Given the description of an element on the screen output the (x, y) to click on. 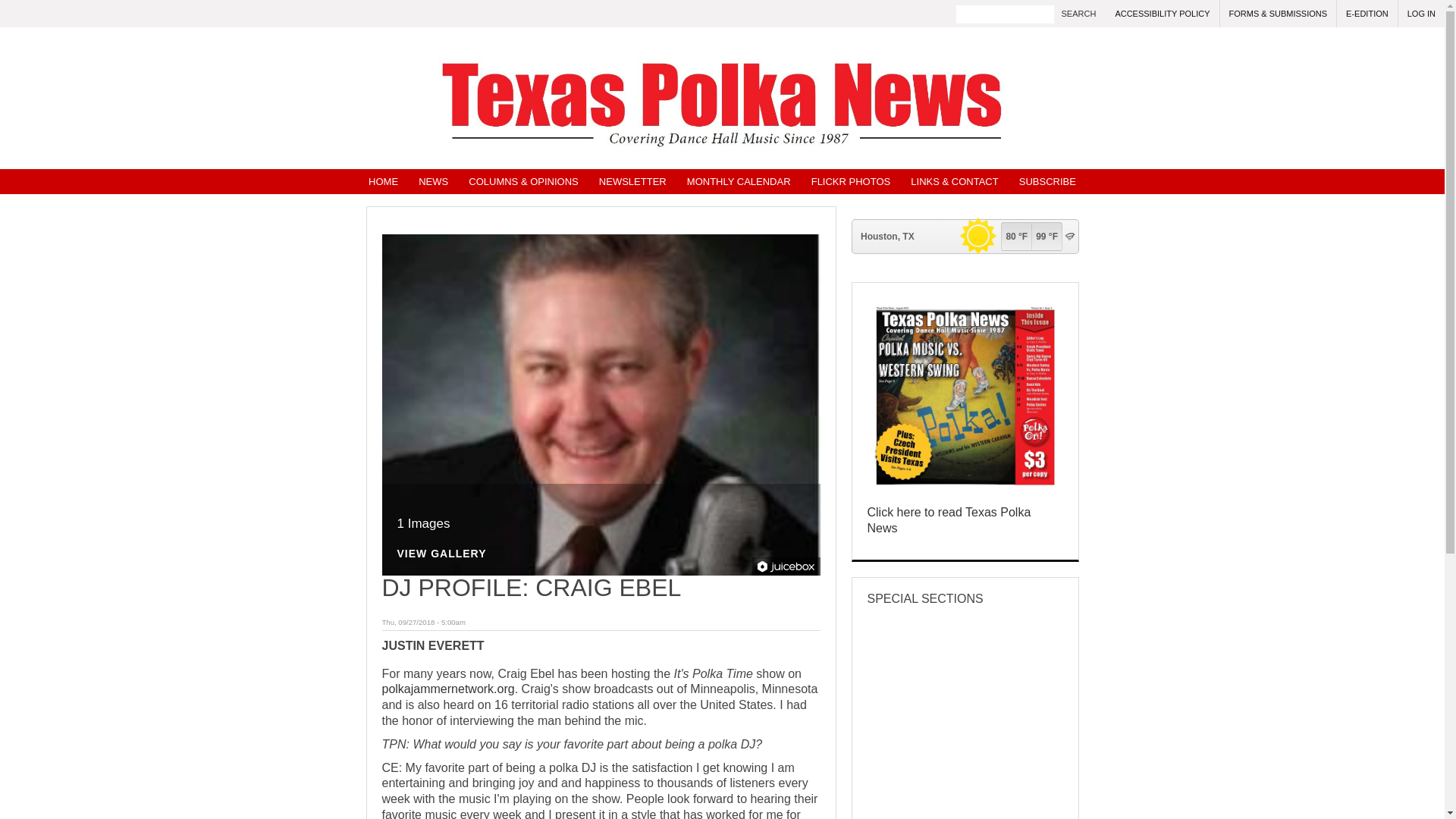
FLICKR PHOTOS (850, 181)
SUBSCRIBE (1047, 181)
MONTHLY CALENDAR (738, 181)
NEWS (433, 181)
Enter the terms you wish to search for. (1005, 13)
News (433, 181)
E-EDITION (1366, 13)
Search (1079, 13)
ACCESSIBILITY POLICY (1162, 13)
polkajammernetwork.org (448, 688)
